Given the description of an element on the screen output the (x, y) to click on. 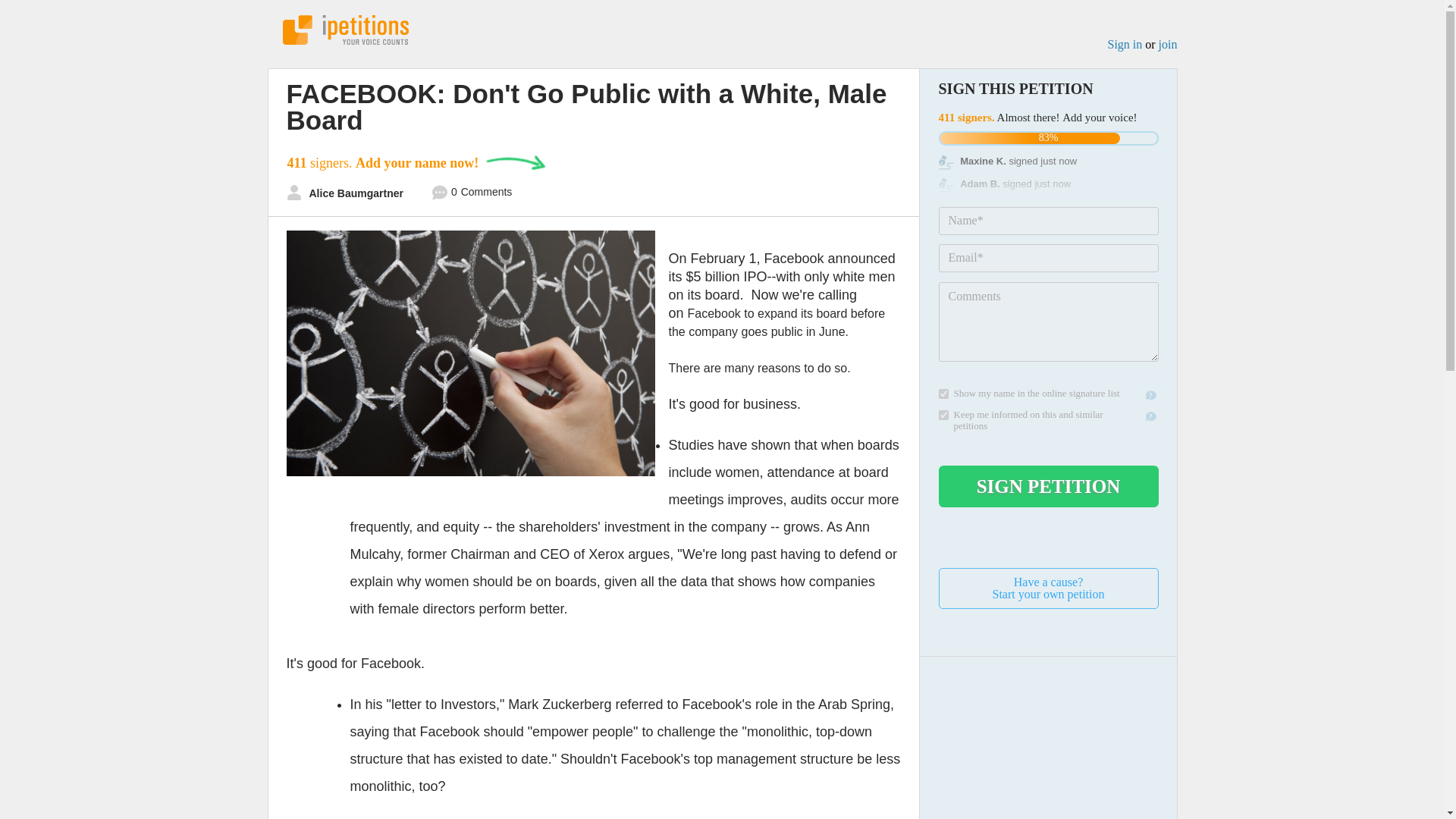
SIGN PETITION (1048, 486)
join (1167, 43)
Sign in (1048, 588)
iPetitions (1123, 43)
1 (344, 30)
0 Comments (944, 393)
1 (472, 194)
